Given the description of an element on the screen output the (x, y) to click on. 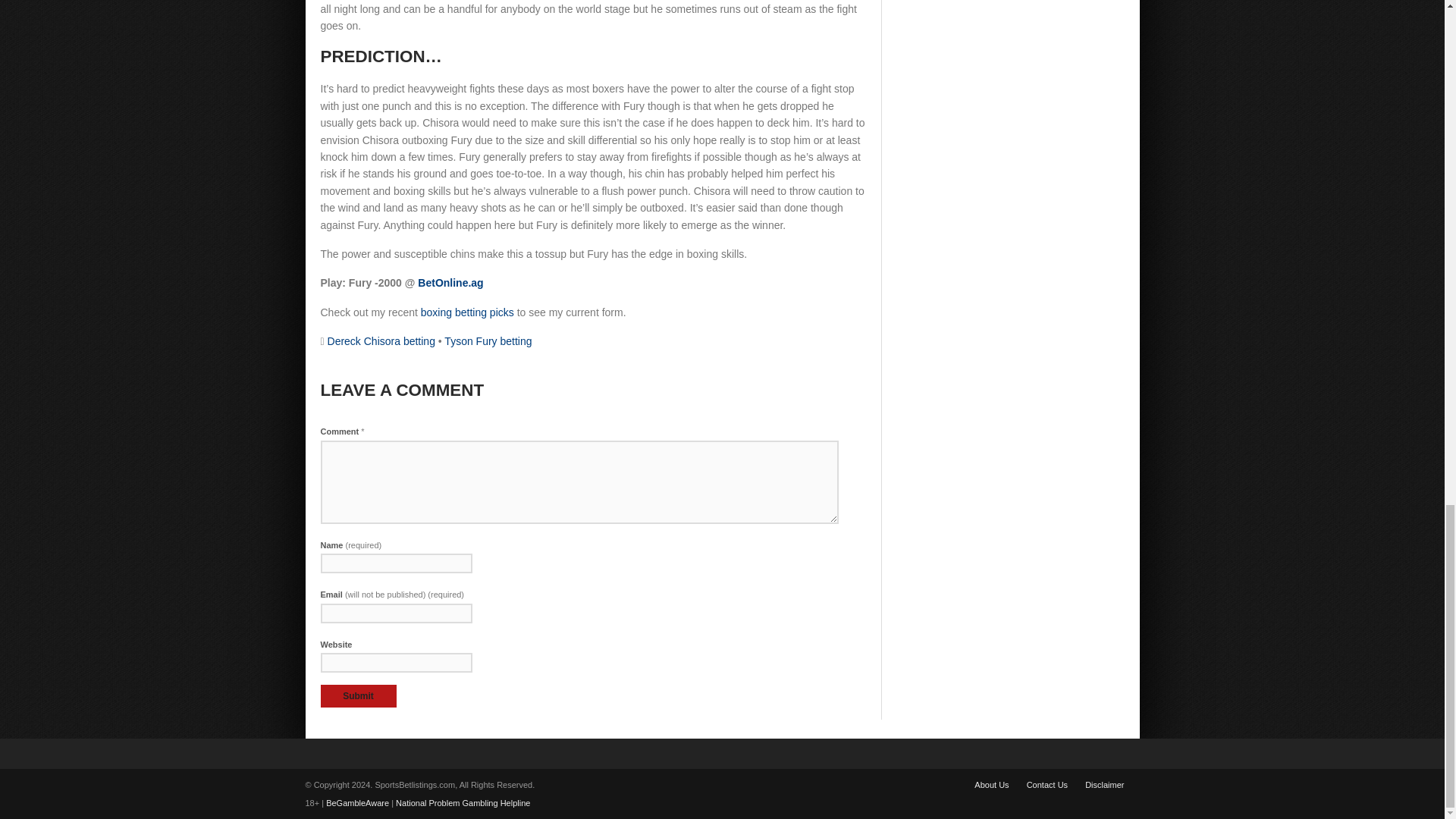
boxing betting picks (466, 312)
Submit (358, 695)
Dereck Chisora betting (381, 340)
BetOnline.ag (450, 282)
Submit (358, 695)
Tyson Fury betting (487, 340)
